Given the description of an element on the screen output the (x, y) to click on. 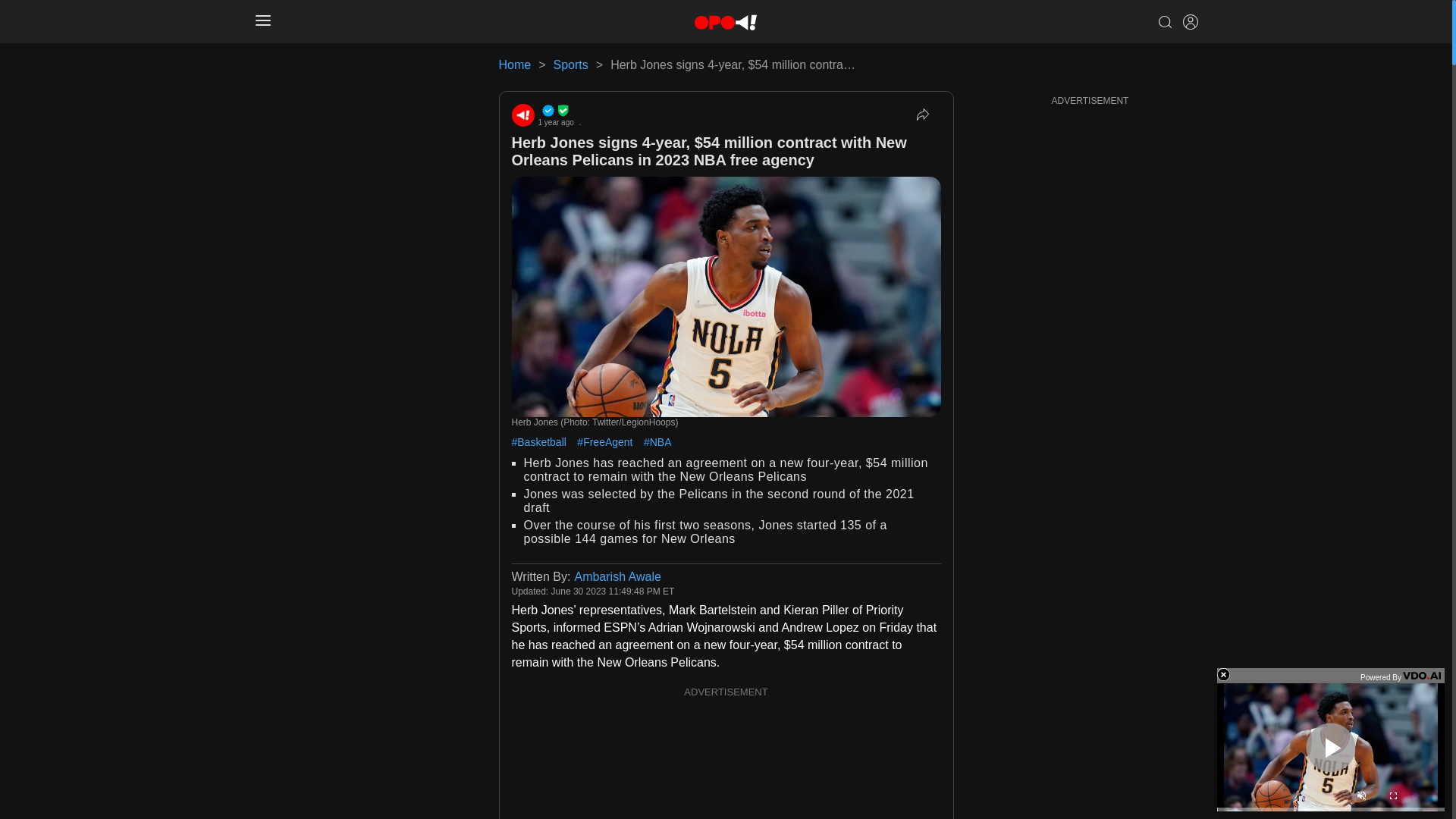
3rd party ad content (726, 760)
Play (1330, 747)
Home (515, 64)
Ambarish Awale (617, 576)
Sports (570, 64)
Fullscreen (1392, 797)
Unmute (1360, 797)
